Given the description of an element on the screen output the (x, y) to click on. 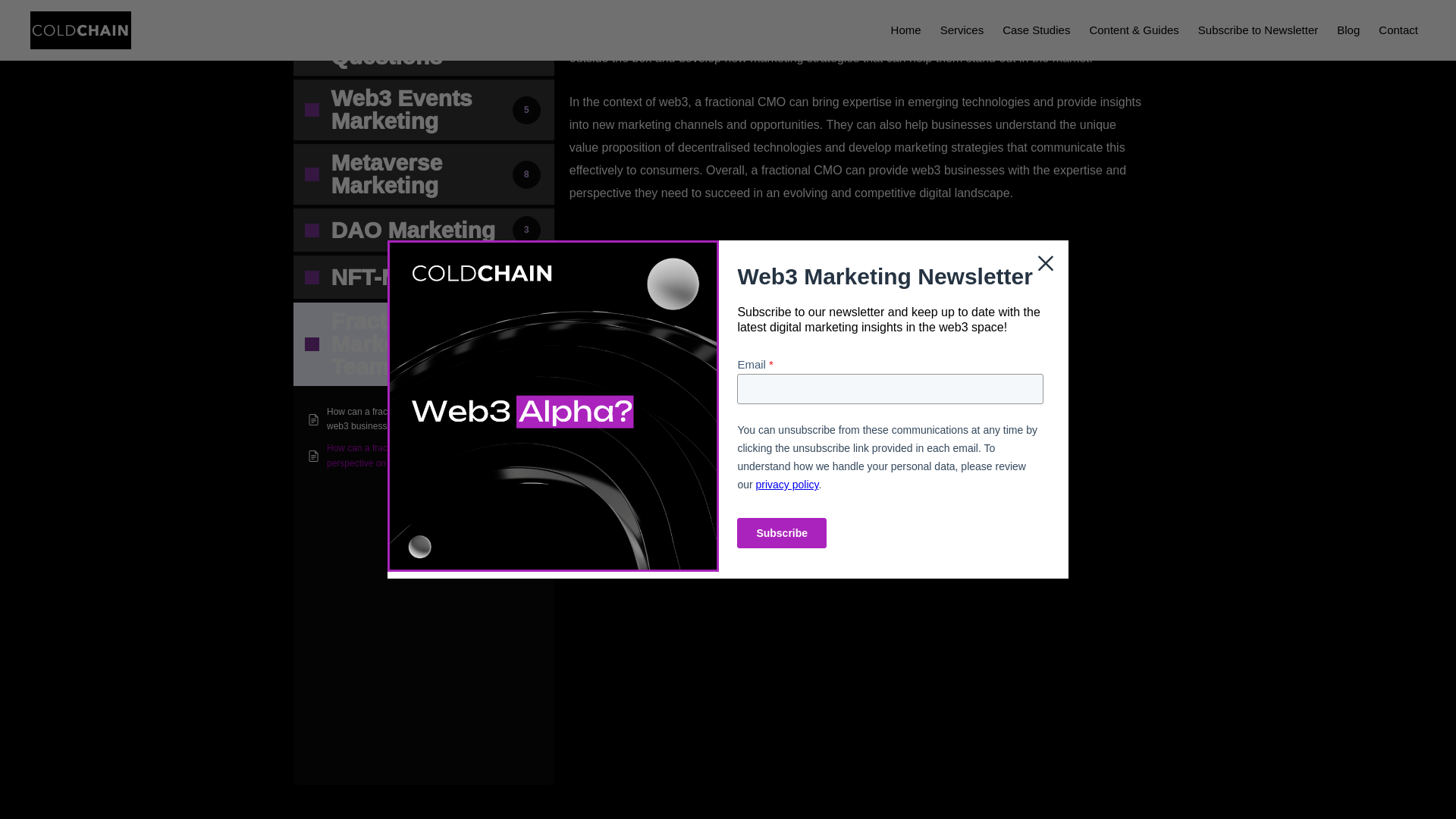
Fractional Marketing Teams (615, 11)
